Given the description of an element on the screen output the (x, y) to click on. 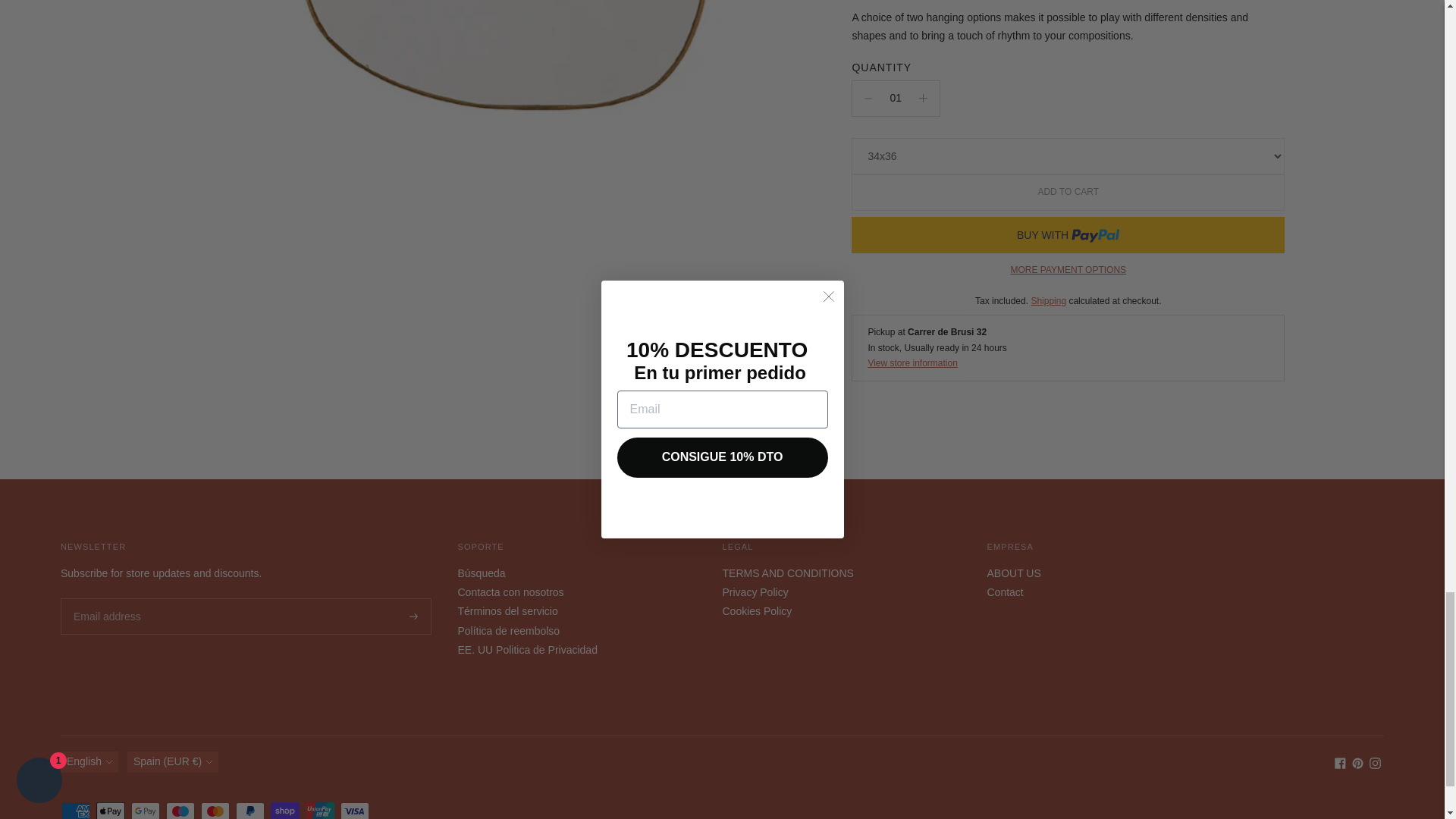
FILOCOLORE on Pinterest (1357, 765)
FILOCOLORE on Instagram (1375, 765)
FILOCOLORE on Facebook (1340, 765)
